Given the description of an element on the screen output the (x, y) to click on. 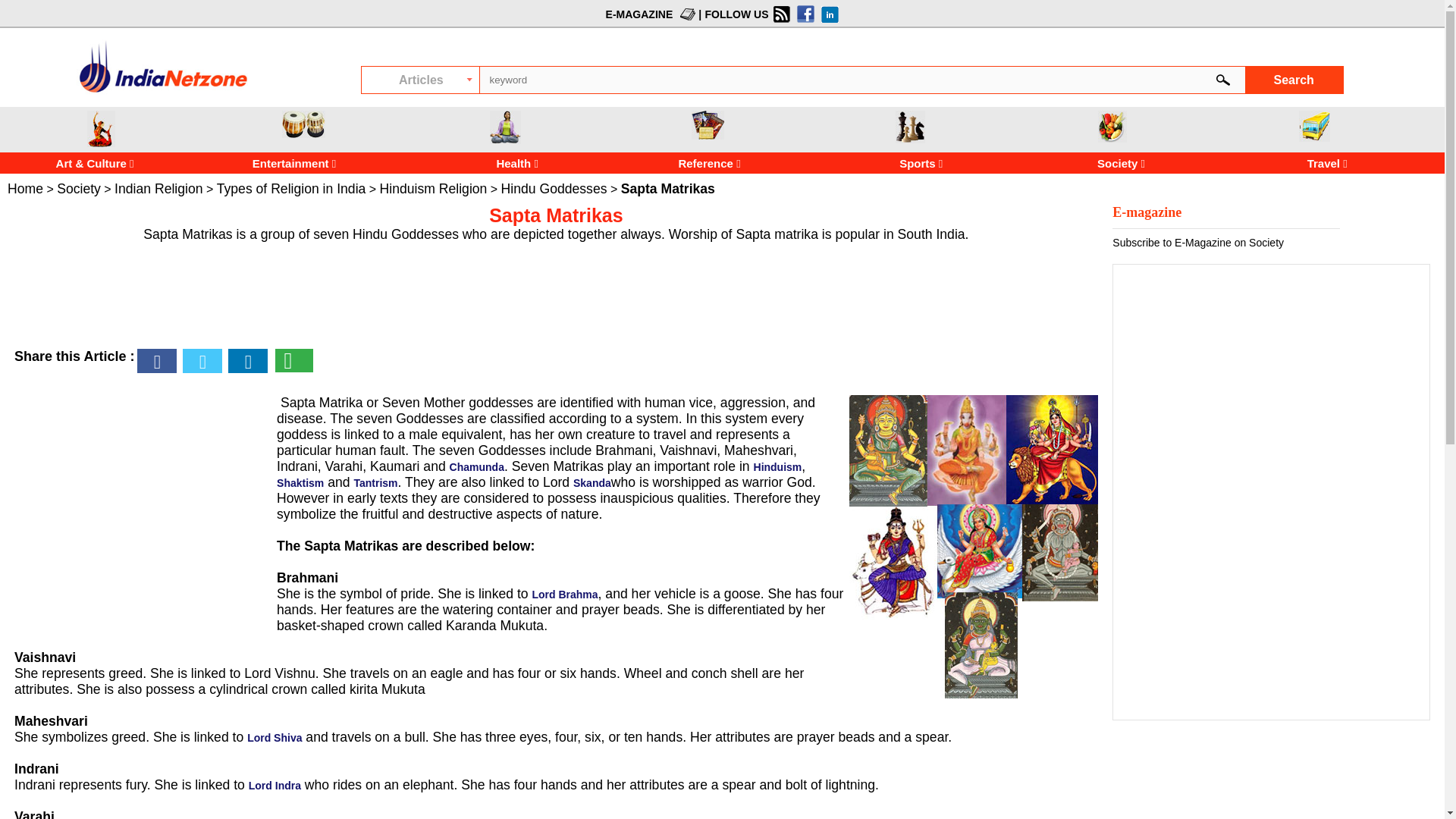
Search (1293, 79)
IndiaNetzone.com (162, 91)
RSS Feed (779, 13)
E-MAGAZINE (638, 13)
Sports (909, 126)
 E-Magazine (686, 13)
Reference (711, 163)
Health (475, 163)
Follow on LinkedIn (827, 13)
Follow on Facebook (803, 13)
Health (508, 163)
Largest  Encyclopedia on India with Lakhs of Articles (162, 66)
Society (78, 188)
Reference (707, 124)
Hindu Goddesses (553, 188)
